Given the description of an element on the screen output the (x, y) to click on. 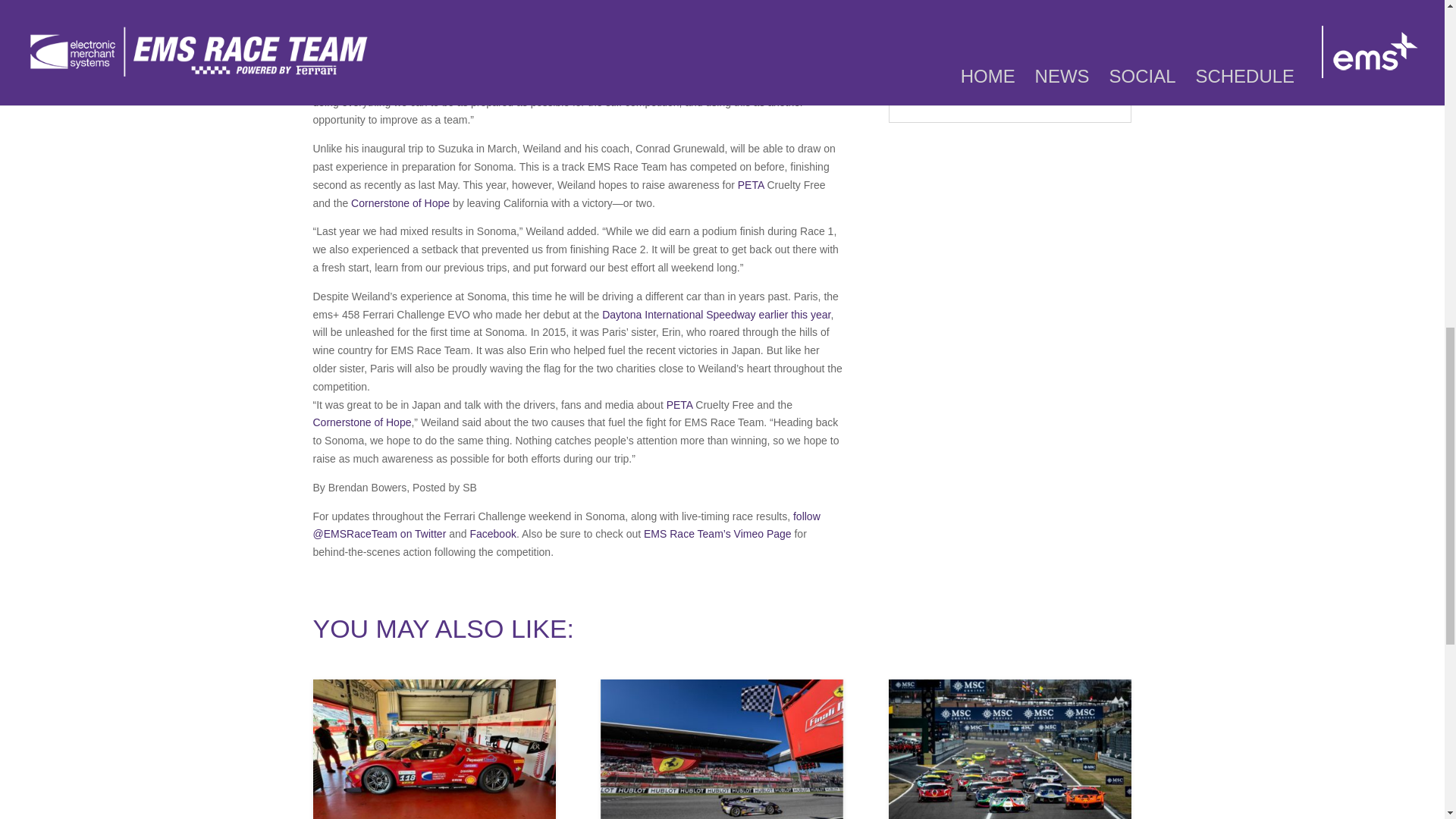
PETA (751, 184)
PETA (679, 404)
Cornerstone of Hope (361, 422)
Cornerstone of Hope (399, 203)
Facebook (491, 533)
Daytona International Speedway earlier this year (715, 314)
